Given the description of an element on the screen output the (x, y) to click on. 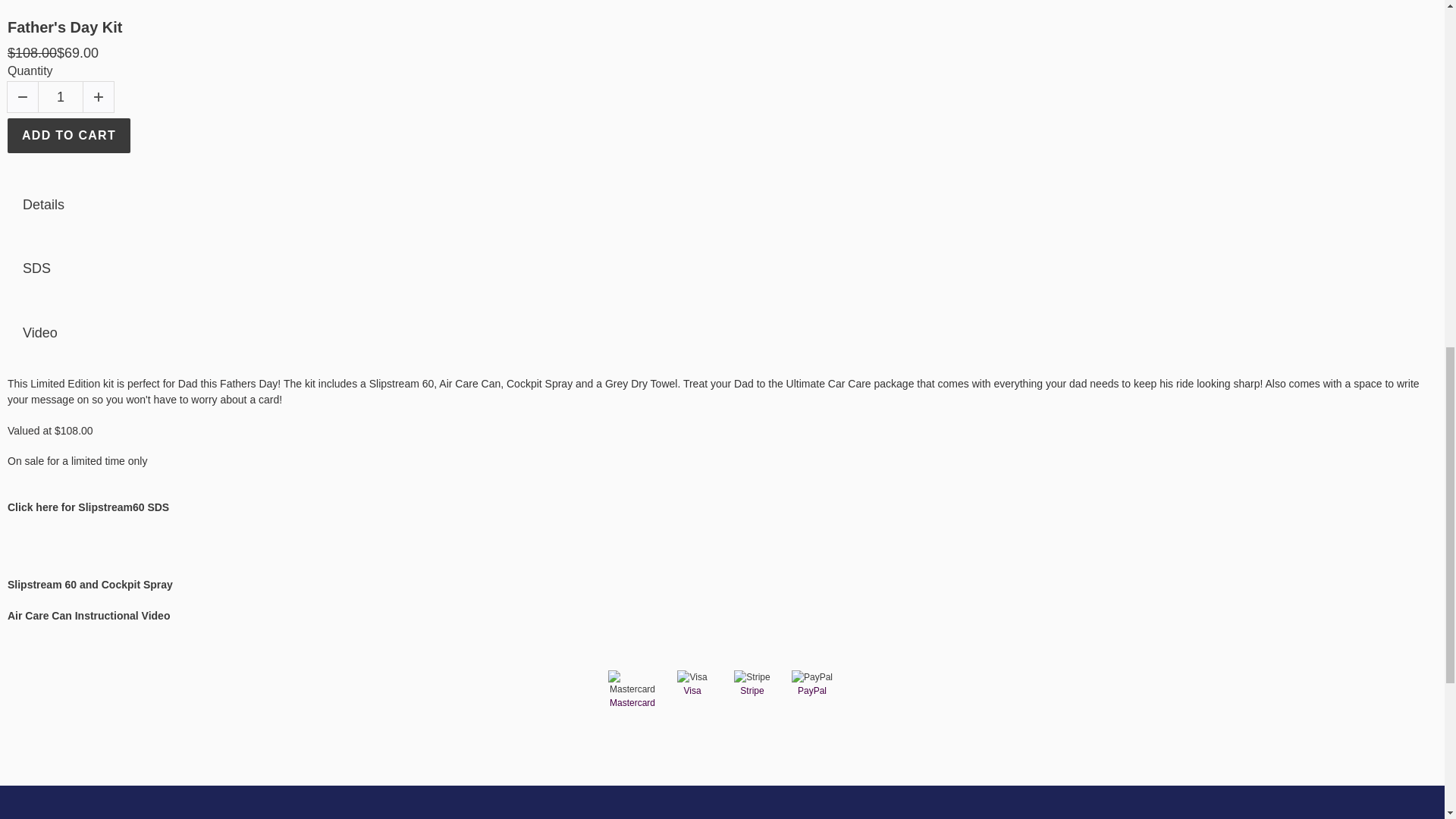
Click here for Slipstream60 SDS (87, 507)
1 (59, 96)
